Given the description of an element on the screen output the (x, y) to click on. 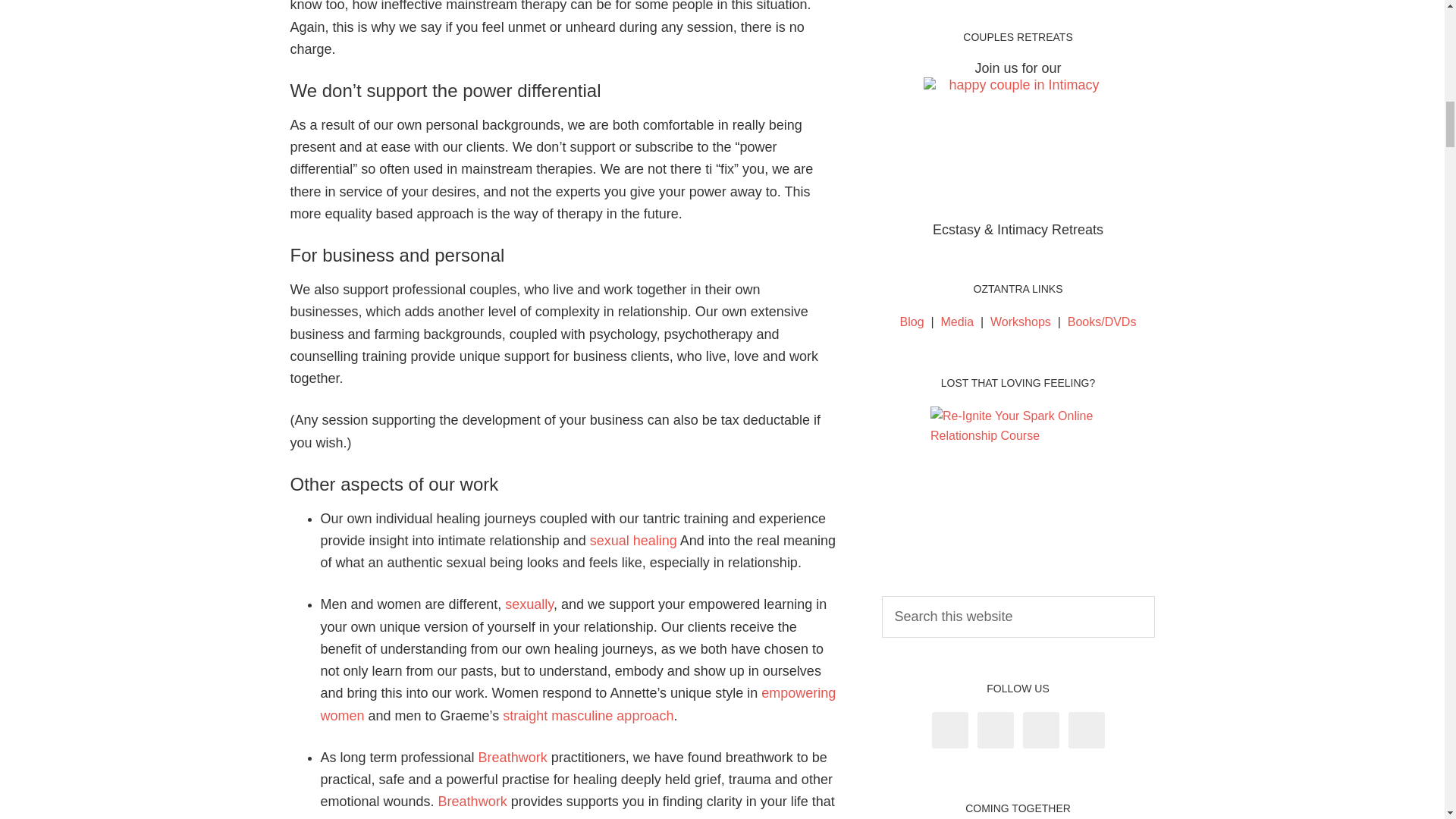
Workshops (1020, 321)
Re-Ignite Your Spark online Relationship Course (1017, 478)
Blog (911, 321)
Oztantra Media (957, 321)
